Given the description of an element on the screen output the (x, y) to click on. 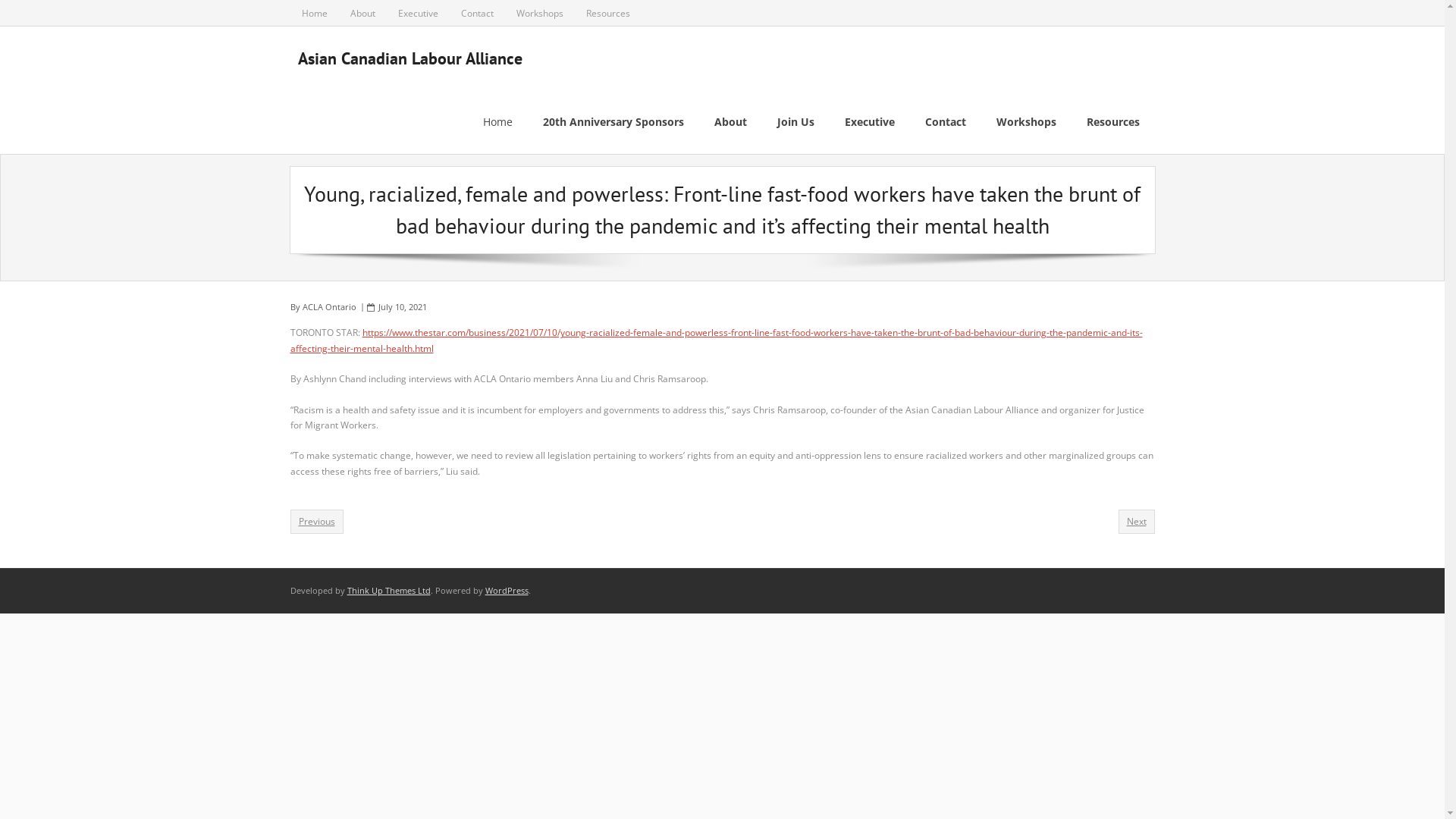
Next Element type: text (1135, 521)
20th Anniversary Sponsors Element type: text (613, 121)
Executive Element type: text (417, 12)
Think Up Themes Ltd Element type: text (388, 590)
Resources Element type: text (1112, 121)
Contact Element type: text (945, 121)
Workshops Element type: text (1026, 121)
Contact Element type: text (476, 12)
About Element type: text (730, 121)
Previous Element type: text (315, 521)
Home Element type: text (313, 12)
Asian Canadian Labour Alliance Element type: text (409, 58)
Join Us Element type: text (794, 121)
Workshops Element type: text (539, 12)
About Element type: text (361, 12)
ACLA Ontario Element type: text (328, 306)
Resources Element type: text (607, 12)
Home Element type: text (497, 121)
WordPress Element type: text (506, 590)
July 10, 2021 Element type: text (401, 306)
Executive Element type: text (869, 121)
